Given the description of an element on the screen output the (x, y) to click on. 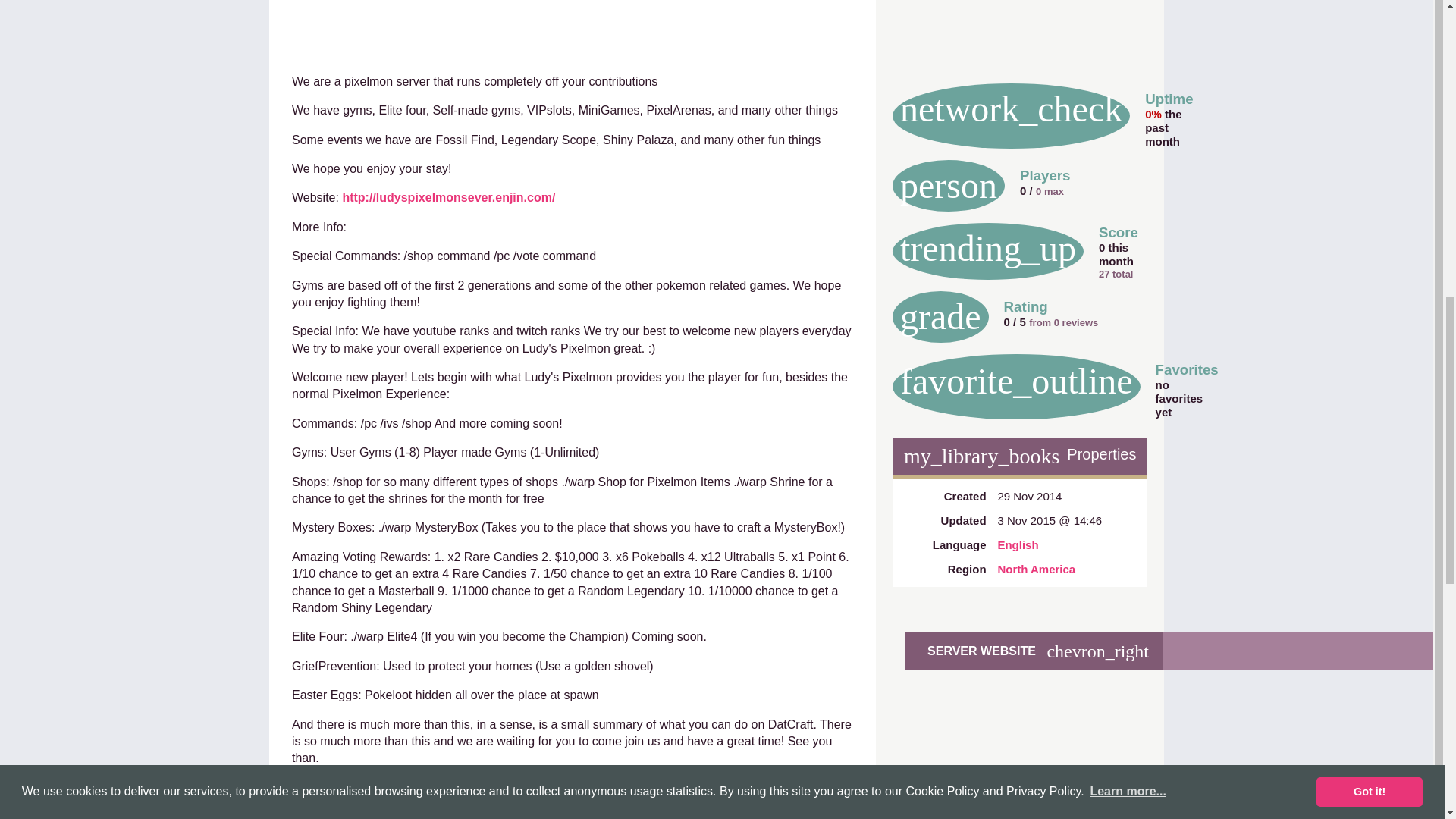
Advertisement (1019, 33)
North America (1036, 568)
Advertisement (572, 21)
English (1017, 544)
